Given the description of an element on the screen output the (x, y) to click on. 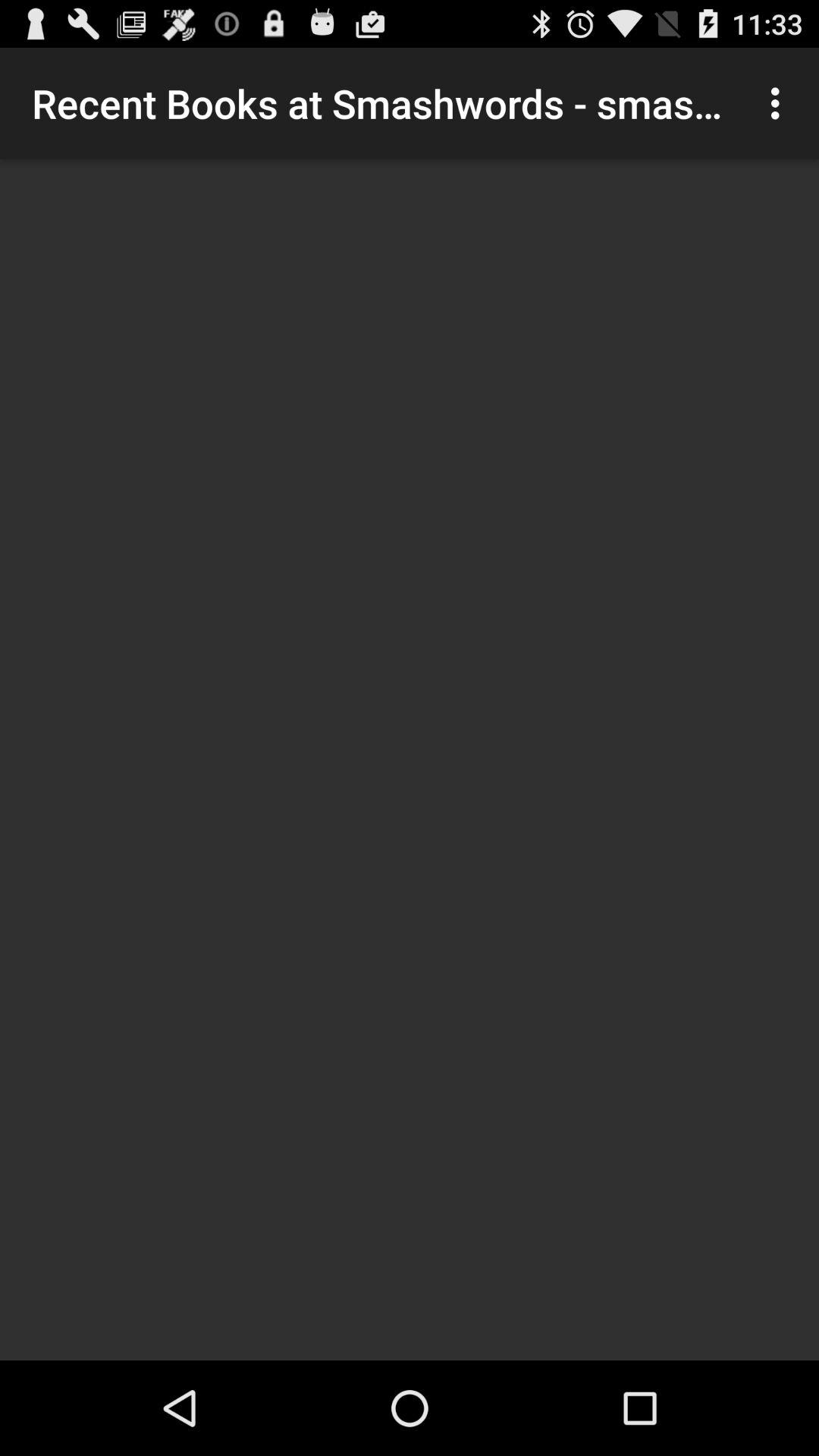
turn on the icon next to the recent books at icon (779, 103)
